Given the description of an element on the screen output the (x, y) to click on. 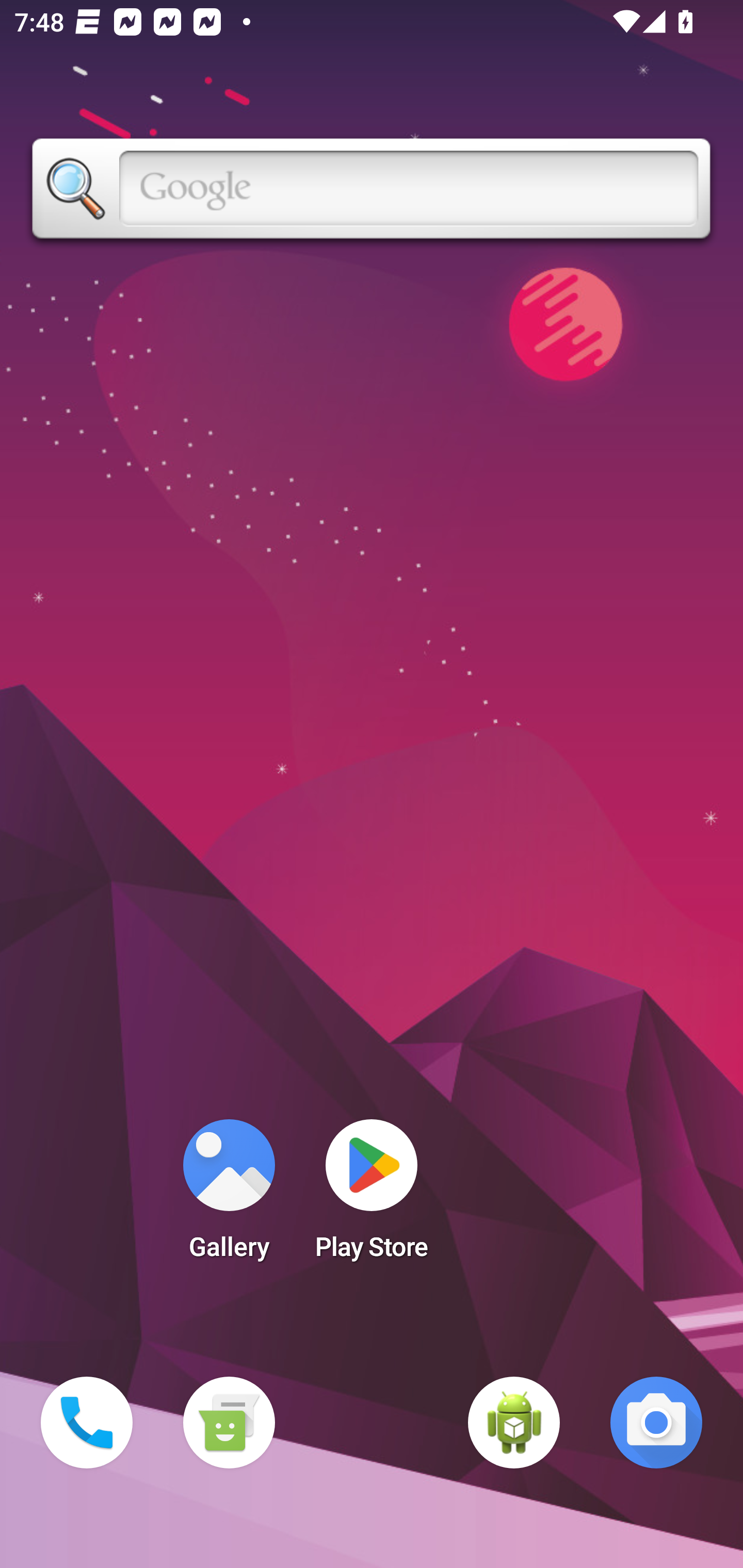
Gallery (228, 1195)
Play Store (371, 1195)
Phone (86, 1422)
Messaging (228, 1422)
WebView Browser Tester (513, 1422)
Camera (656, 1422)
